Given the description of an element on the screen output the (x, y) to click on. 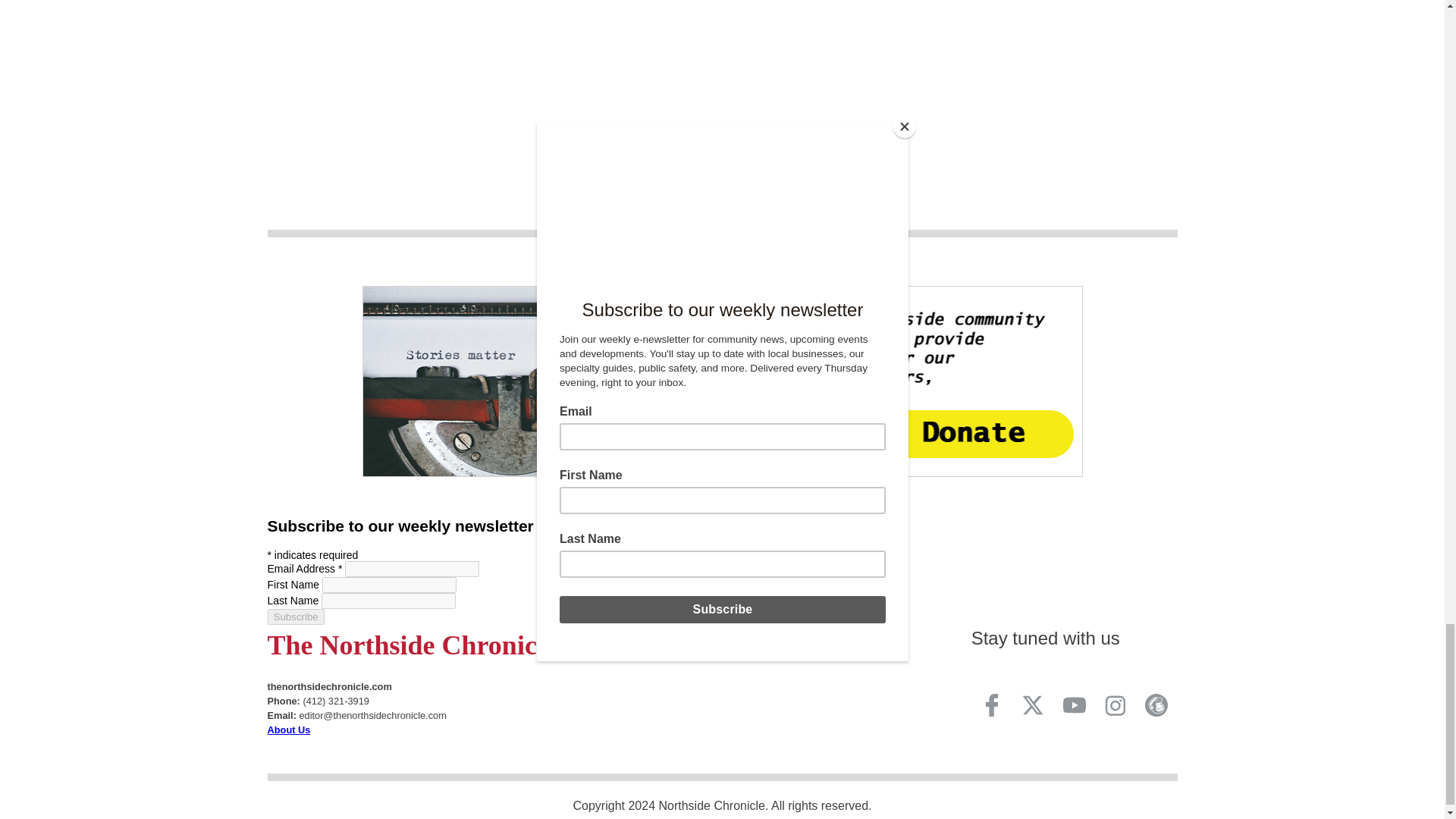
Subscribe (294, 616)
